Given the description of an element on the screen output the (x, y) to click on. 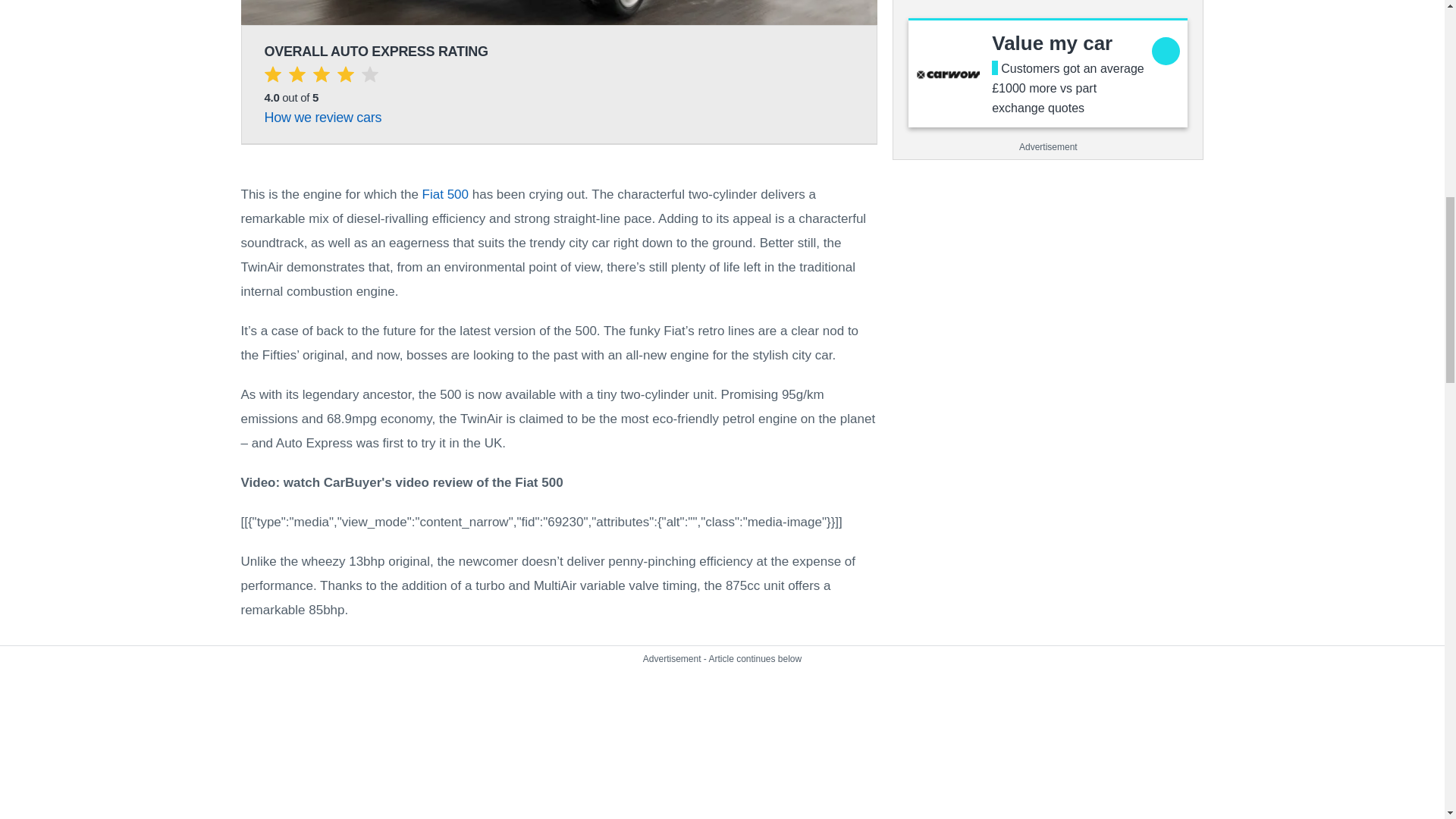
4 Stars (320, 76)
Fiat 500 (445, 194)
4 (559, 12)
How we review cars (322, 117)
